Given the description of an element on the screen output the (x, y) to click on. 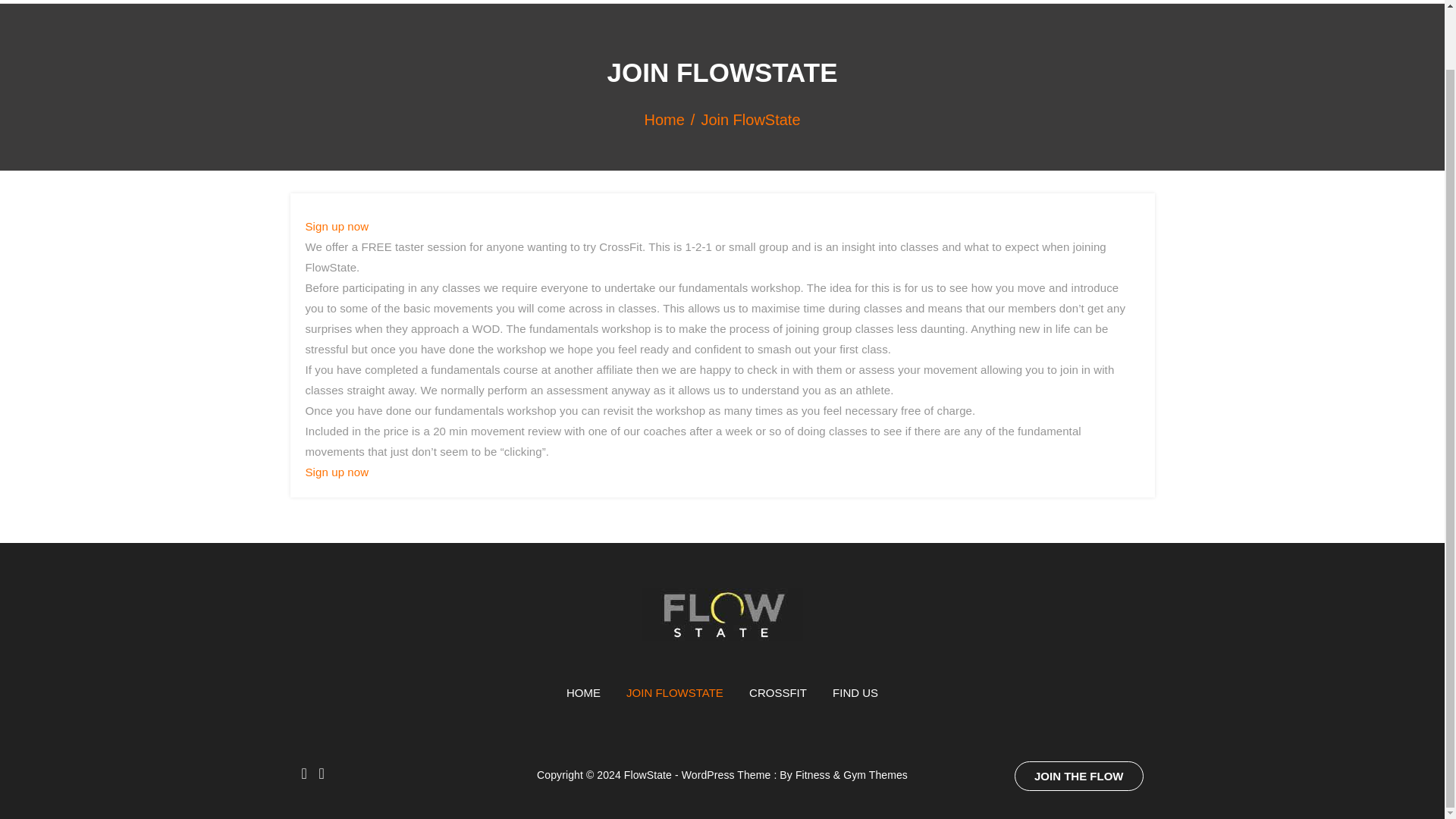
SERVICES (877, 1)
Home (671, 119)
Sign up now (336, 472)
Sign up now (336, 226)
JOIN THE FLOW (1078, 776)
CROSSFIT (777, 692)
JOIN FLOWSTATE (674, 692)
FIND US (1103, 1)
JOIN FLOWSTATE (994, 1)
HOME (797, 1)
FIND US (854, 692)
FLOWSTATE (381, 17)
HOME (582, 692)
